Given the description of an element on the screen output the (x, y) to click on. 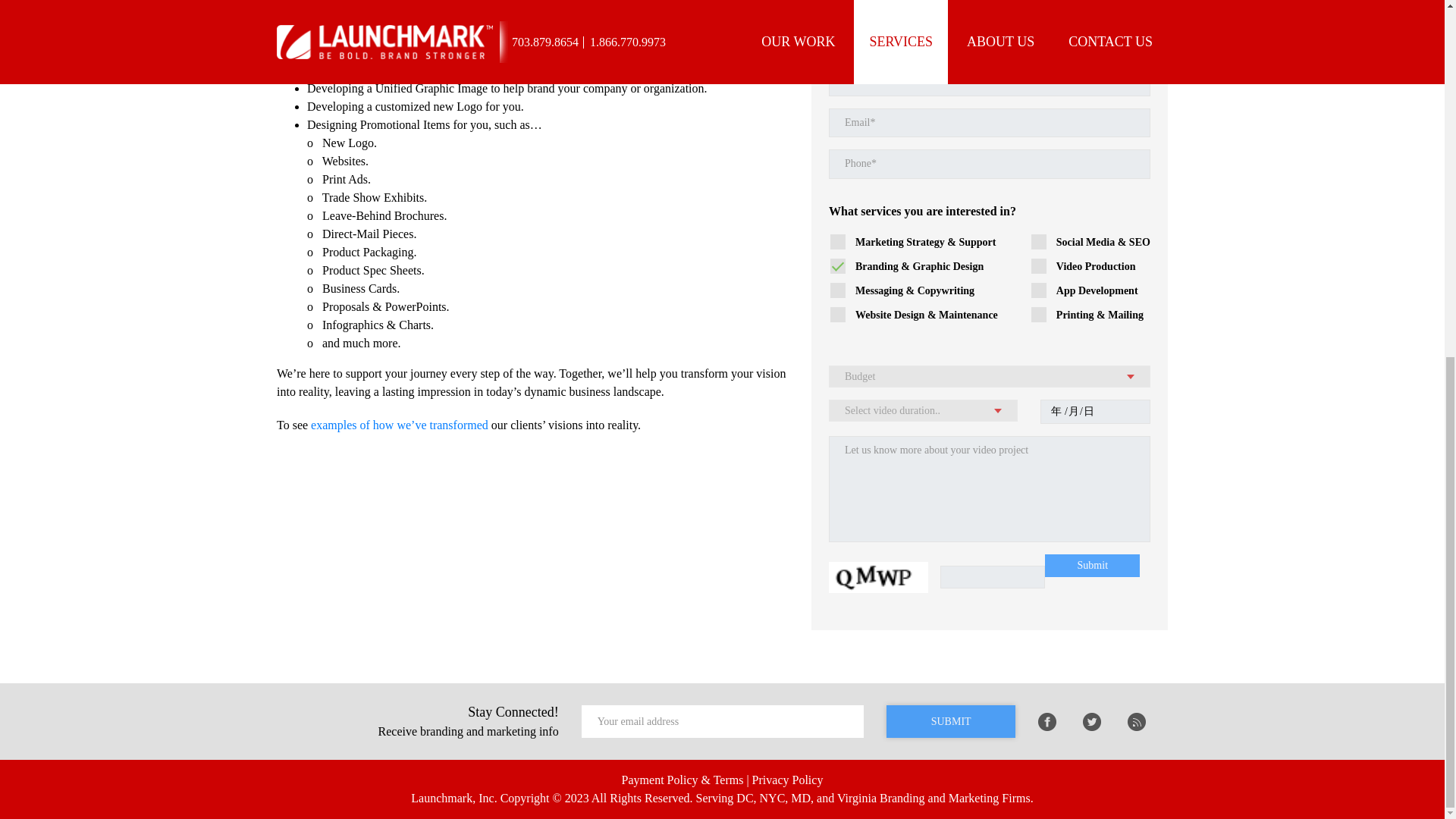
Blog (1135, 721)
submit (950, 721)
Facebook (1047, 721)
Privacy Policy (788, 780)
submit (950, 721)
twitter (1091, 721)
Submit (1092, 565)
Submit (1092, 565)
